Given the description of an element on the screen output the (x, y) to click on. 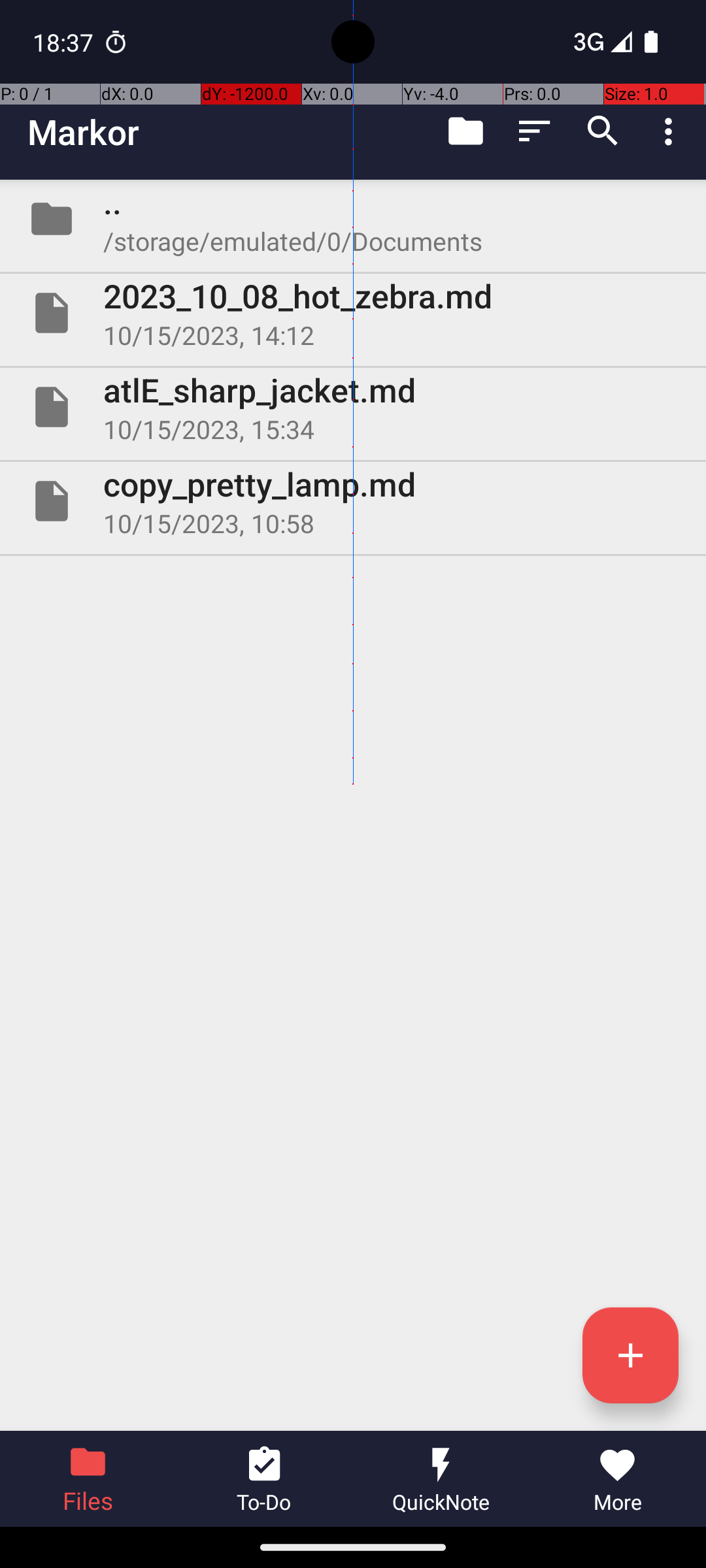
File 2023_10_08_hot_zebra.md  Element type: android.widget.LinearLayout (353, 312)
File atlE_sharp_jacket.md  Element type: android.widget.LinearLayout (353, 406)
File copy_pretty_lamp.md  Element type: android.widget.LinearLayout (353, 500)
18:37 Element type: android.widget.TextView (64, 41)
